Given the description of an element on the screen output the (x, y) to click on. 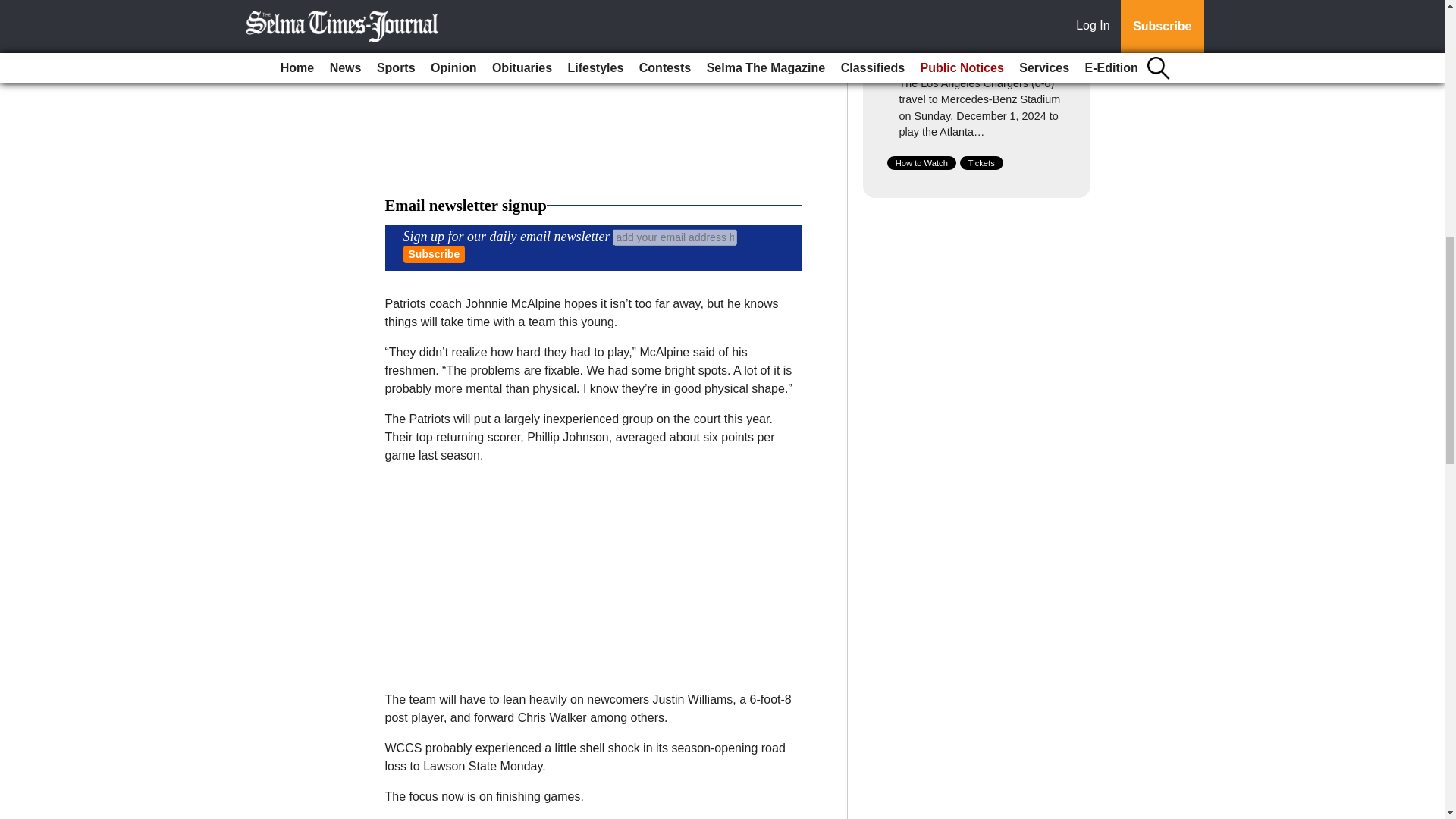
Subscribe (434, 253)
Subscribe (434, 253)
Tickets (981, 162)
How to Watch (921, 162)
